Given the description of an element on the screen output the (x, y) to click on. 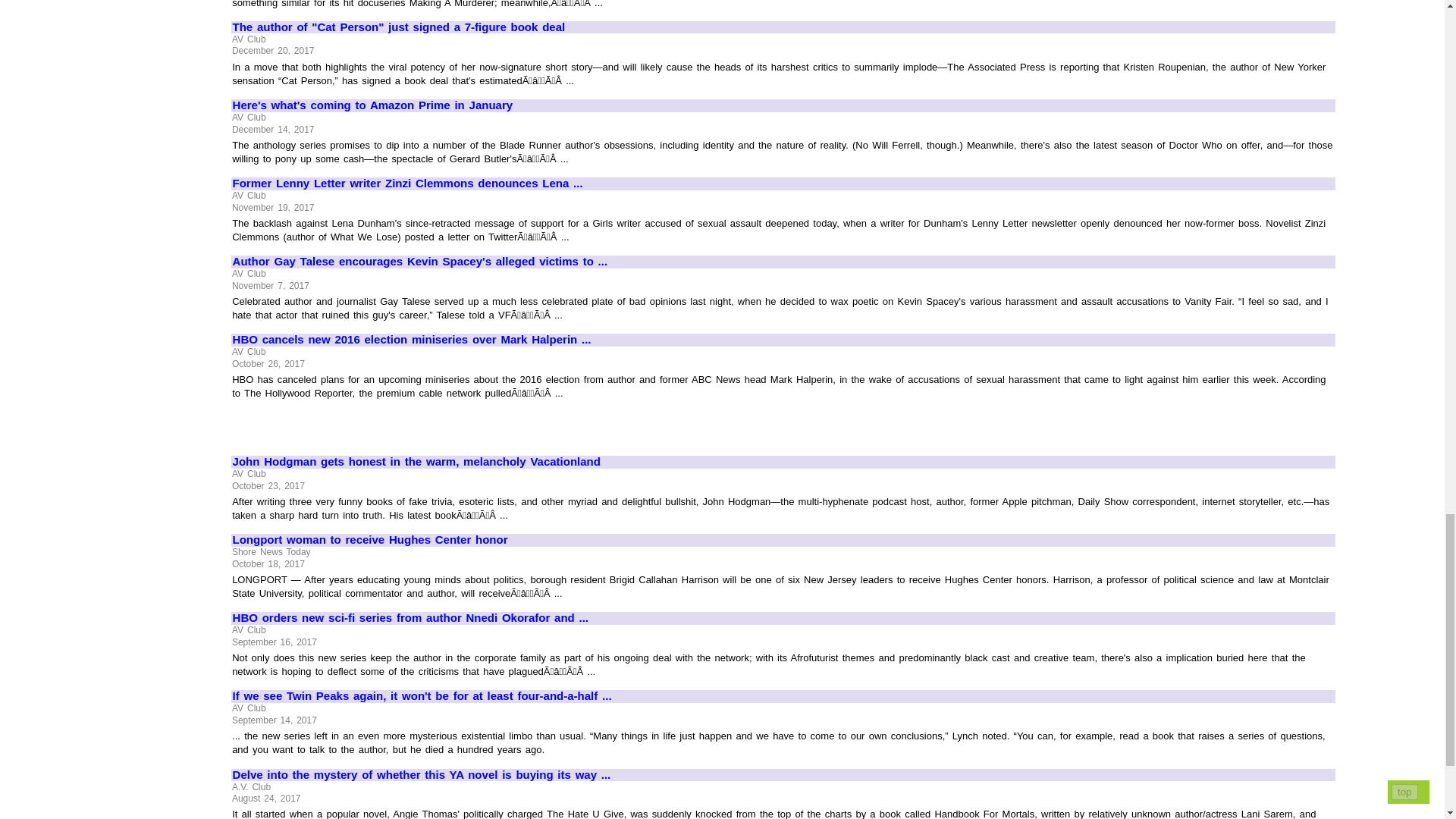
Longport woman to receive Hughes Center honor (782, 540)
The author of "Cat Person" just signed a 7-figure book deal (782, 27)
Here's what's coming to Amazon Prime in January (782, 105)
